Given the description of an element on the screen output the (x, y) to click on. 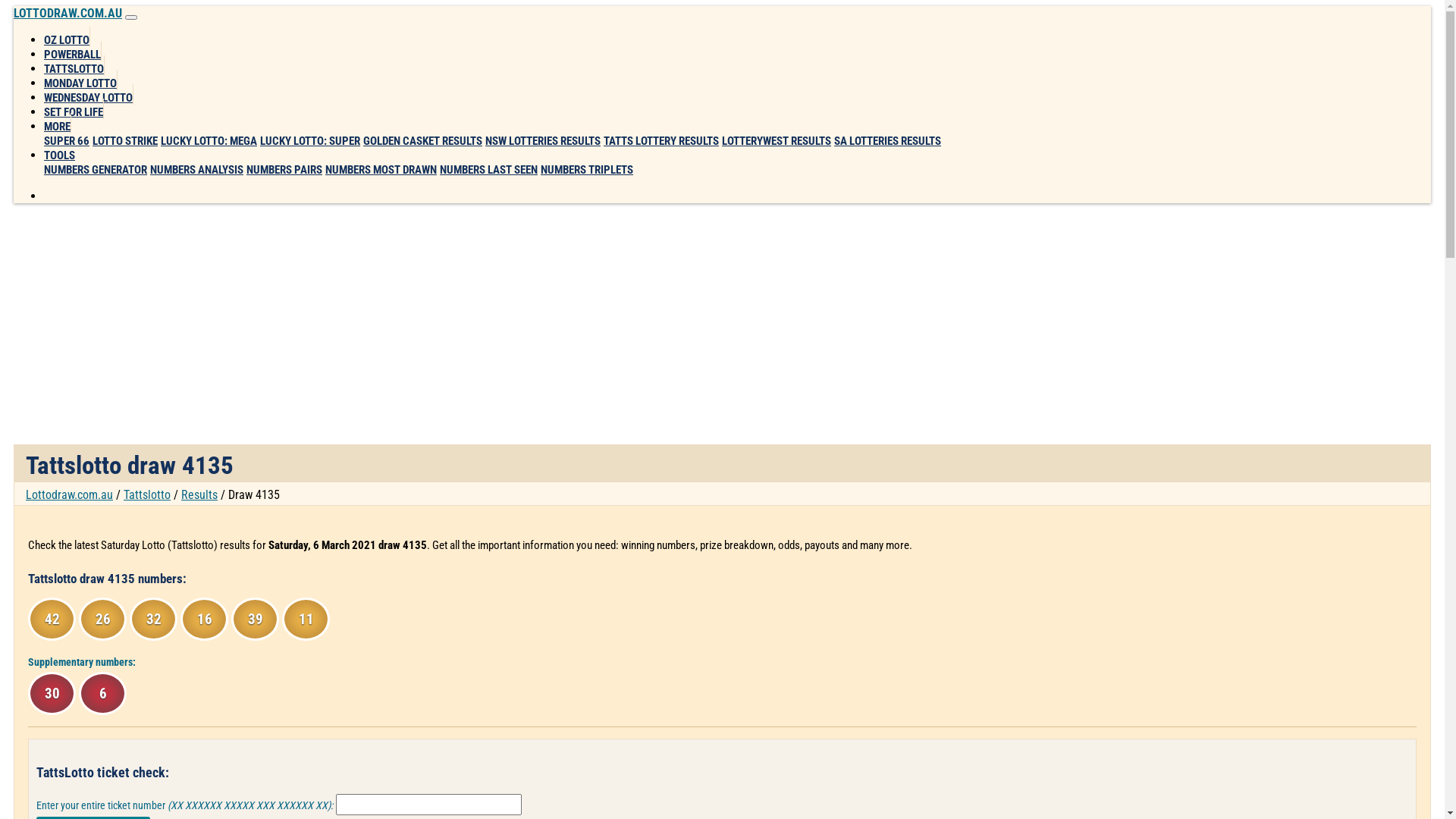
MONDAY LOTTO Element type: text (80, 79)
LUCKY LOTTO: SUPER Element type: text (310, 140)
NUMBERS ANALYSIS Element type: text (196, 169)
Lottodraw.com.au Element type: text (68, 494)
LUCKY LOTTO: MEGA Element type: text (208, 140)
NUMBERS MOST DRAWN Element type: text (380, 169)
Results Element type: text (199, 494)
TATTSLOTTO Element type: text (73, 65)
LOTTO STRIKE Element type: text (124, 140)
Advertisement Element type: hover (468, 321)
TOOLS Element type: text (59, 151)
MORE Element type: text (57, 122)
SET FOR LIFE Element type: text (73, 108)
SA LOTTERIES RESULTS Element type: text (887, 140)
Tattslotto Element type: text (146, 494)
NSW LOTTERIES RESULTS Element type: text (542, 140)
TATTS LOTTERY RESULTS Element type: text (660, 140)
POWERBALL Element type: text (72, 50)
NUMBERS LAST SEEN Element type: text (488, 169)
NUMBERS GENERATOR Element type: text (95, 169)
WEDNESDAY LOTTO Element type: text (88, 94)
OZ LOTTO Element type: text (66, 36)
GOLDEN CASKET RESULTS Element type: text (422, 140)
NUMBERS PAIRS Element type: text (284, 169)
SUPER 66 Element type: text (66, 140)
LOTTERYWEST RESULTS Element type: text (776, 140)
NUMBERS TRIPLETS Element type: text (586, 169)
LOTTODRAW.COM.AU Element type: text (67, 13)
